Given the description of an element on the screen output the (x, y) to click on. 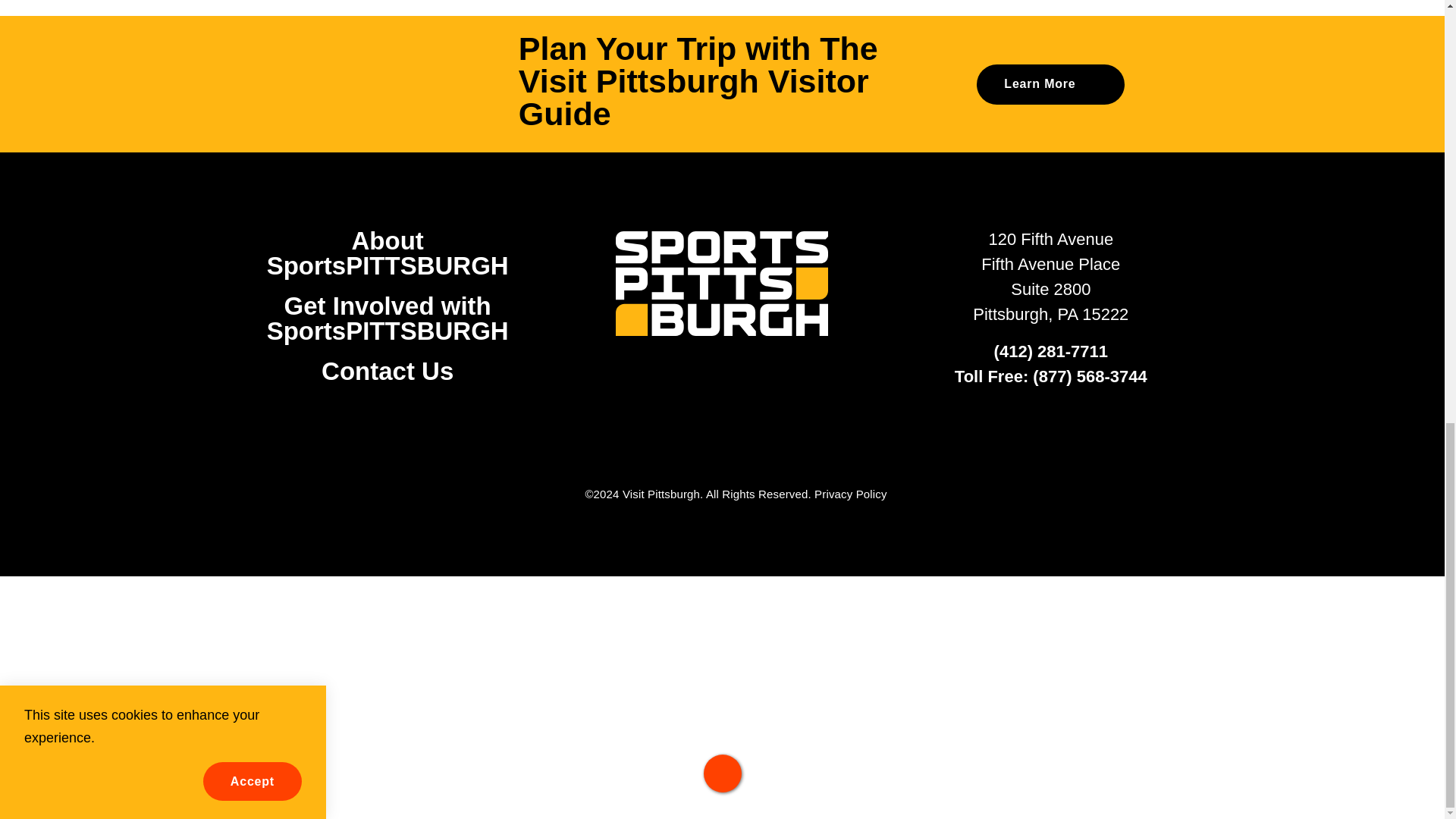
Plan Your Trip with The Visit Pittsburgh Visitor Guide (721, 84)
About SportsPITTSBURGH (387, 253)
Get Involved with SportsPITTSBURGH (387, 317)
Learn More (1050, 84)
Privacy Policy (849, 493)
Contact Us (386, 370)
